Given the description of an element on the screen output the (x, y) to click on. 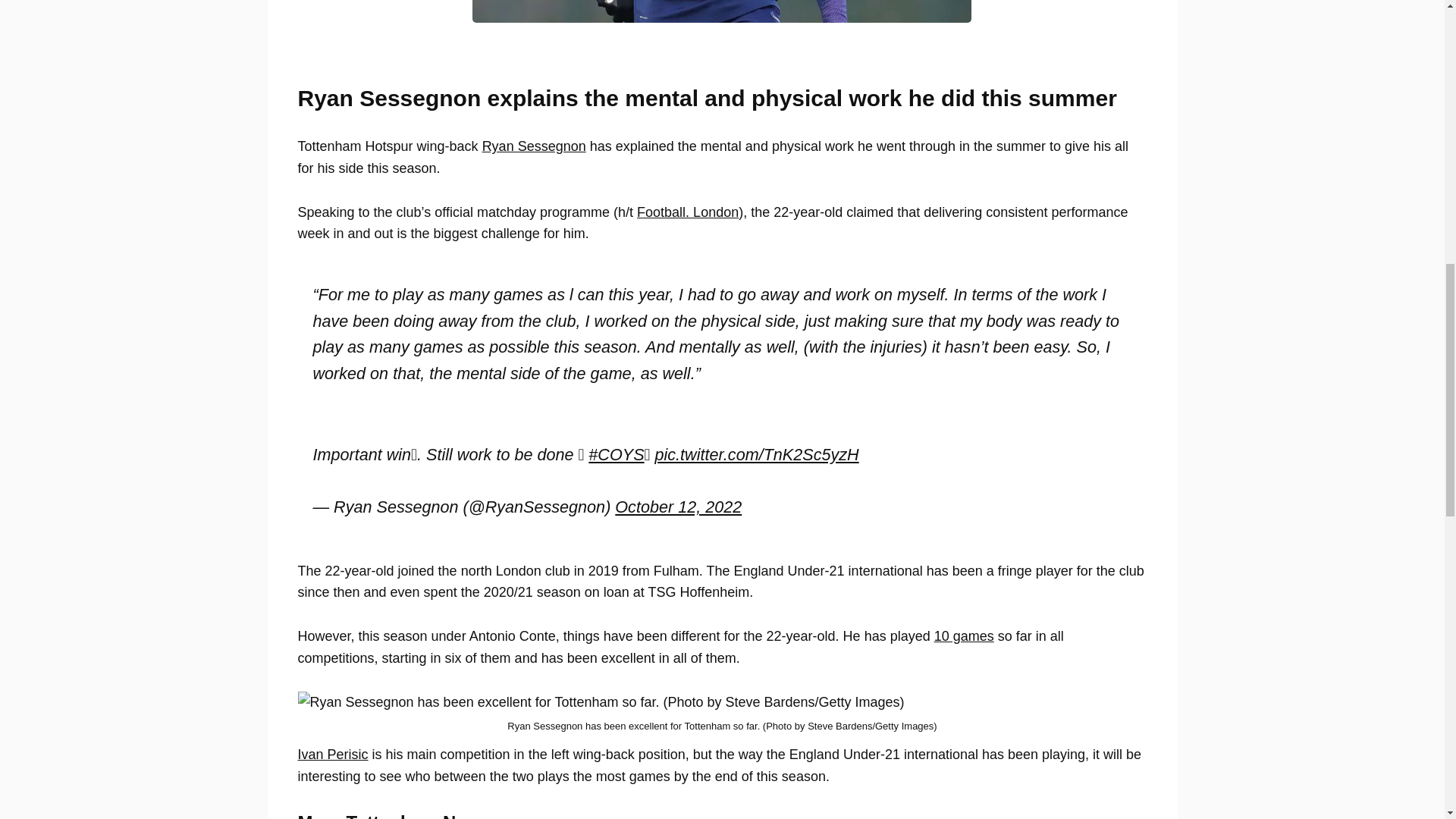
Ivan Perisic (332, 754)
10 games (964, 635)
Ryan Sessegnon (533, 145)
Football. London (687, 212)
October 12, 2022 (677, 506)
